Given the description of an element on the screen output the (x, y) to click on. 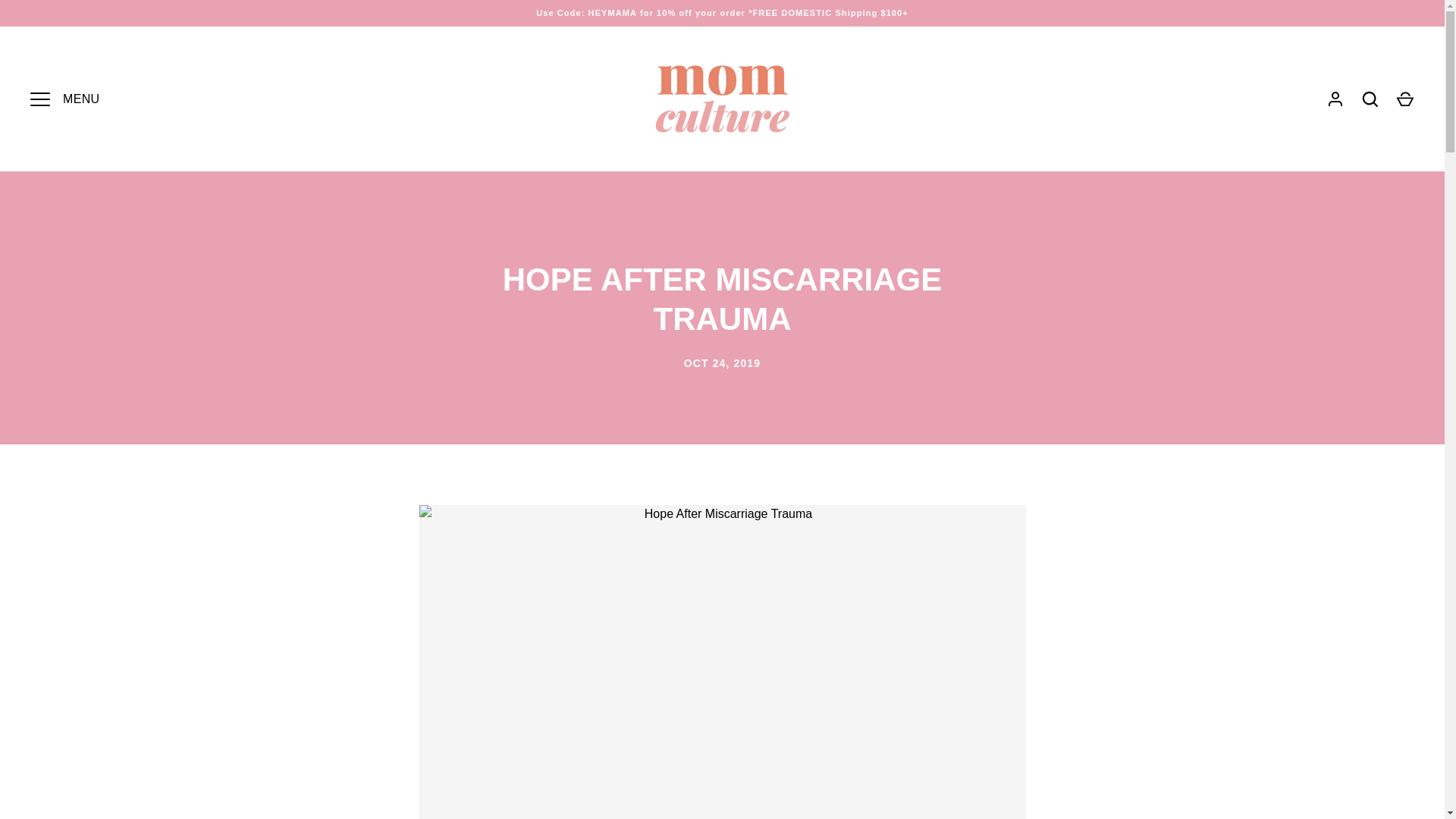
MENU (39, 99)
